Given the description of an element on the screen output the (x, y) to click on. 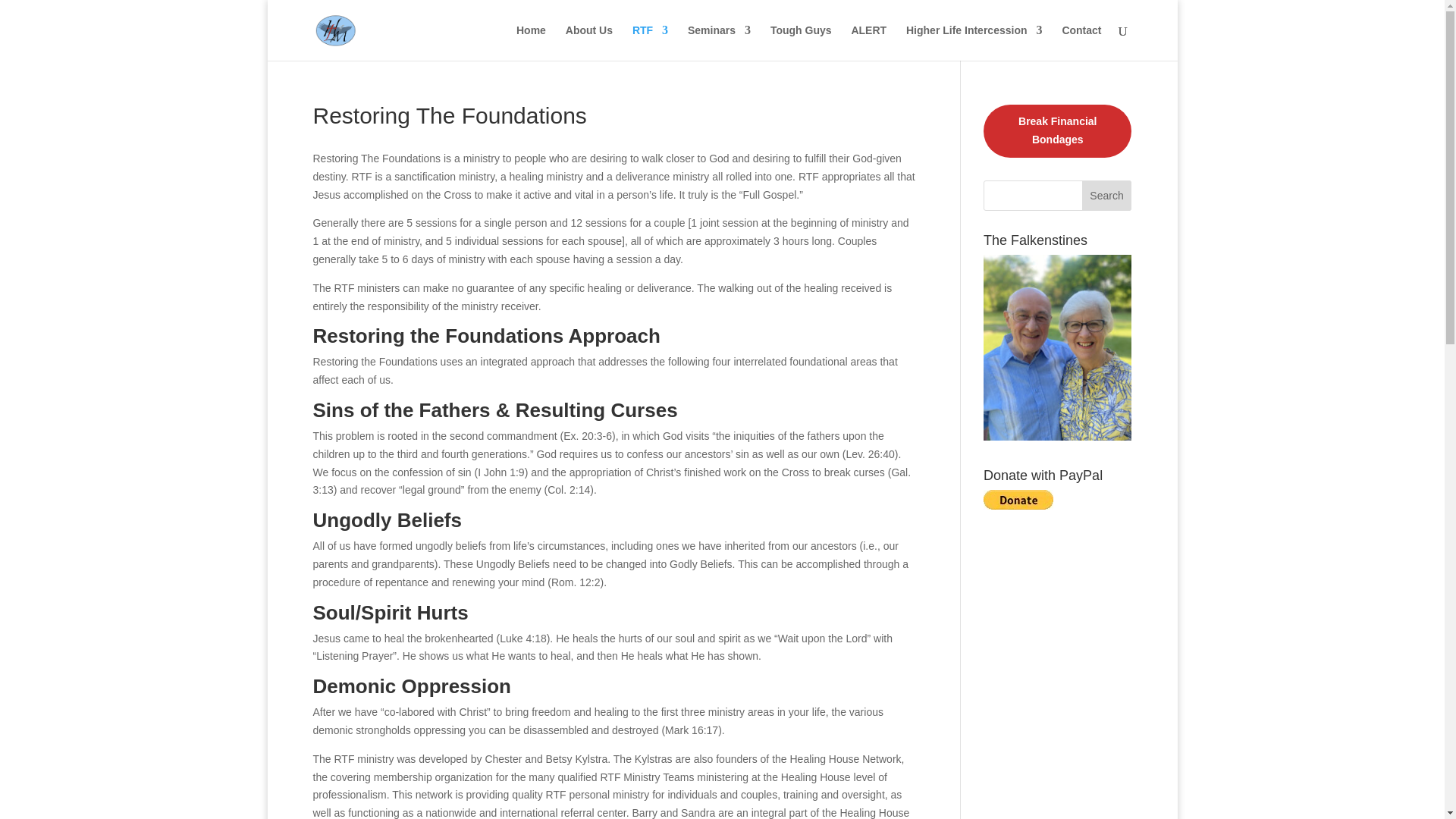
Tough Guys (800, 42)
About Us (589, 42)
Search (1106, 195)
ALERT (868, 42)
Contact (1080, 42)
Higher Life Intercession (973, 42)
RTF (649, 42)
Seminars (719, 42)
